Given the description of an element on the screen output the (x, y) to click on. 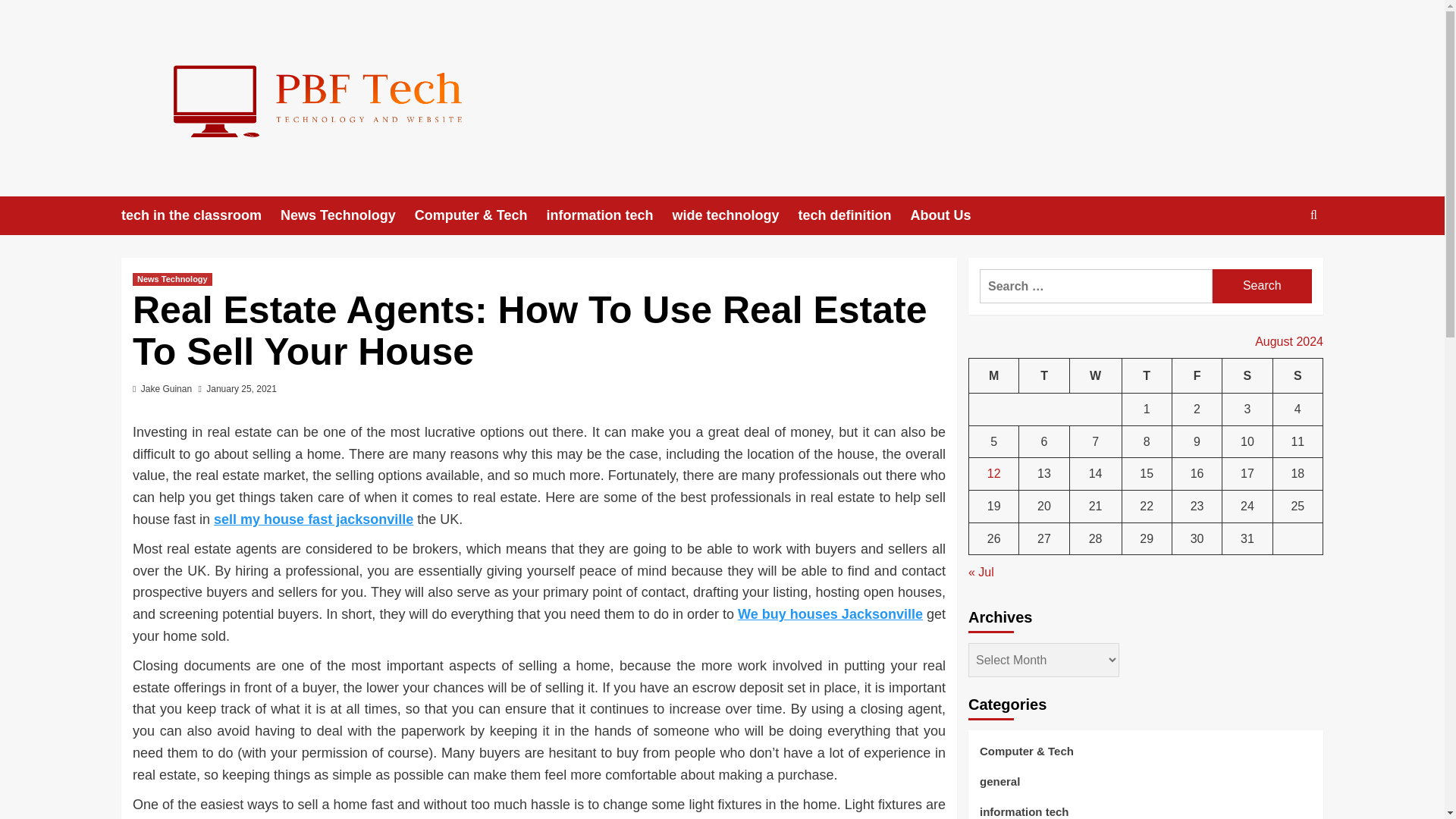
Search (1261, 286)
Thursday (1146, 375)
Monday (994, 375)
information tech (608, 215)
About Us (950, 215)
Wednesday (1094, 375)
We buy houses Jacksonville (830, 613)
Friday (1196, 375)
Search (1278, 261)
Sunday (1297, 375)
